Given the description of an element on the screen output the (x, y) to click on. 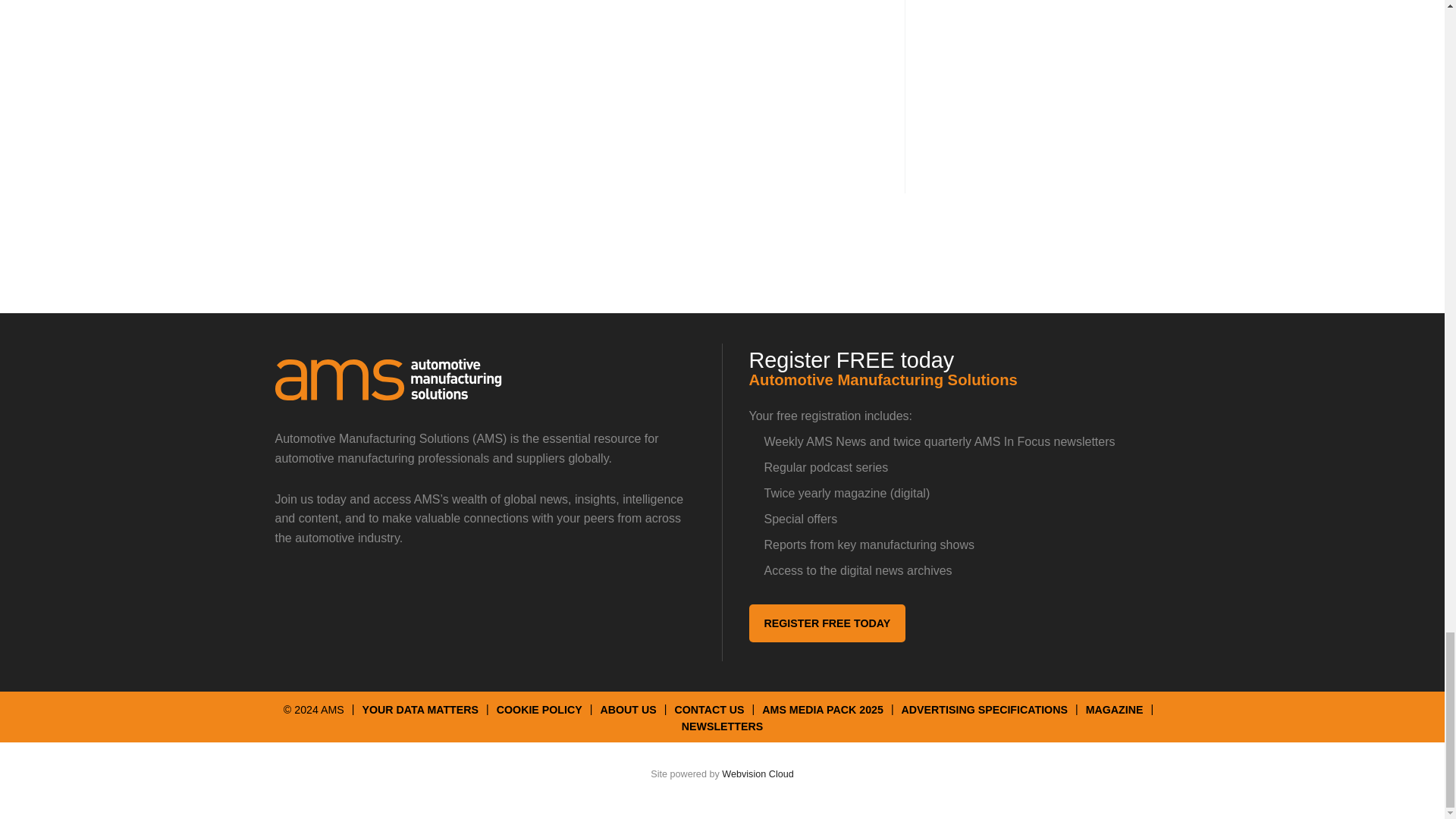
Connect with us on Linked In (346, 593)
Connect with us on Facebook (399, 593)
Connect with us on Twitter (294, 593)
